Given the description of an element on the screen output the (x, y) to click on. 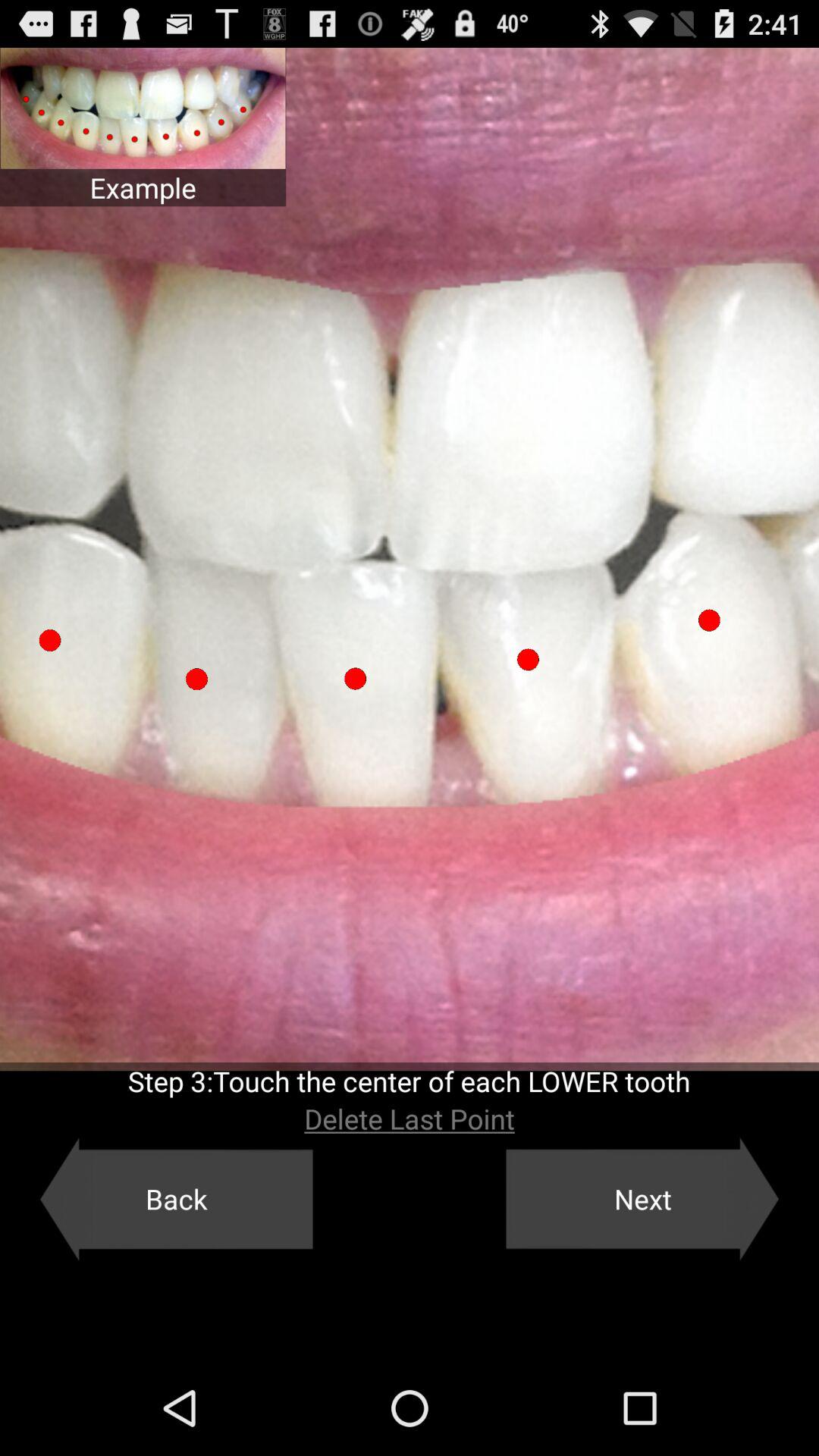
scroll until the back icon (175, 1198)
